Given the description of an element on the screen output the (x, y) to click on. 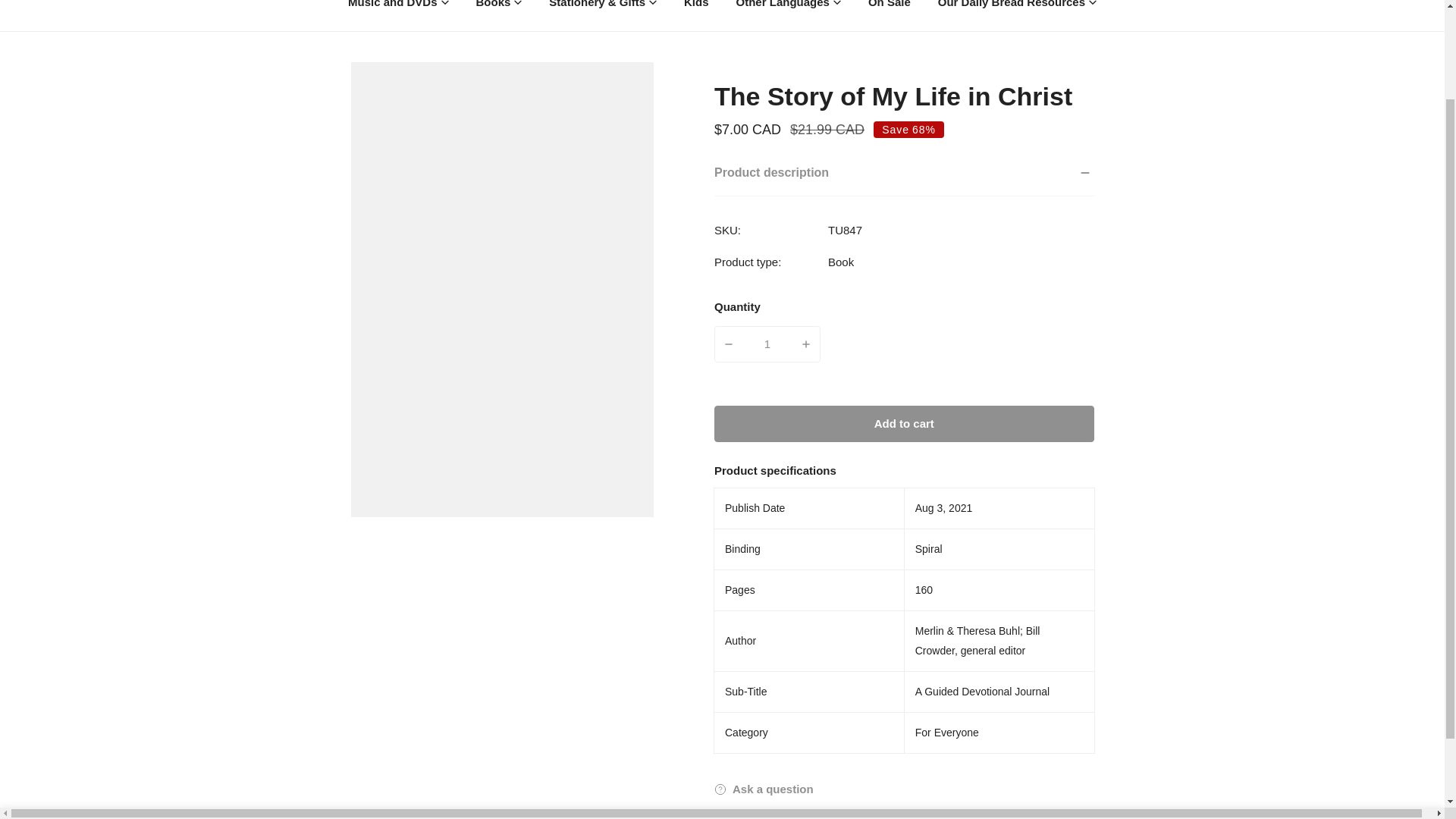
1 (767, 343)
Kids (695, 15)
1 (931, 725)
Book (840, 261)
